Given the description of an element on the screen output the (x, y) to click on. 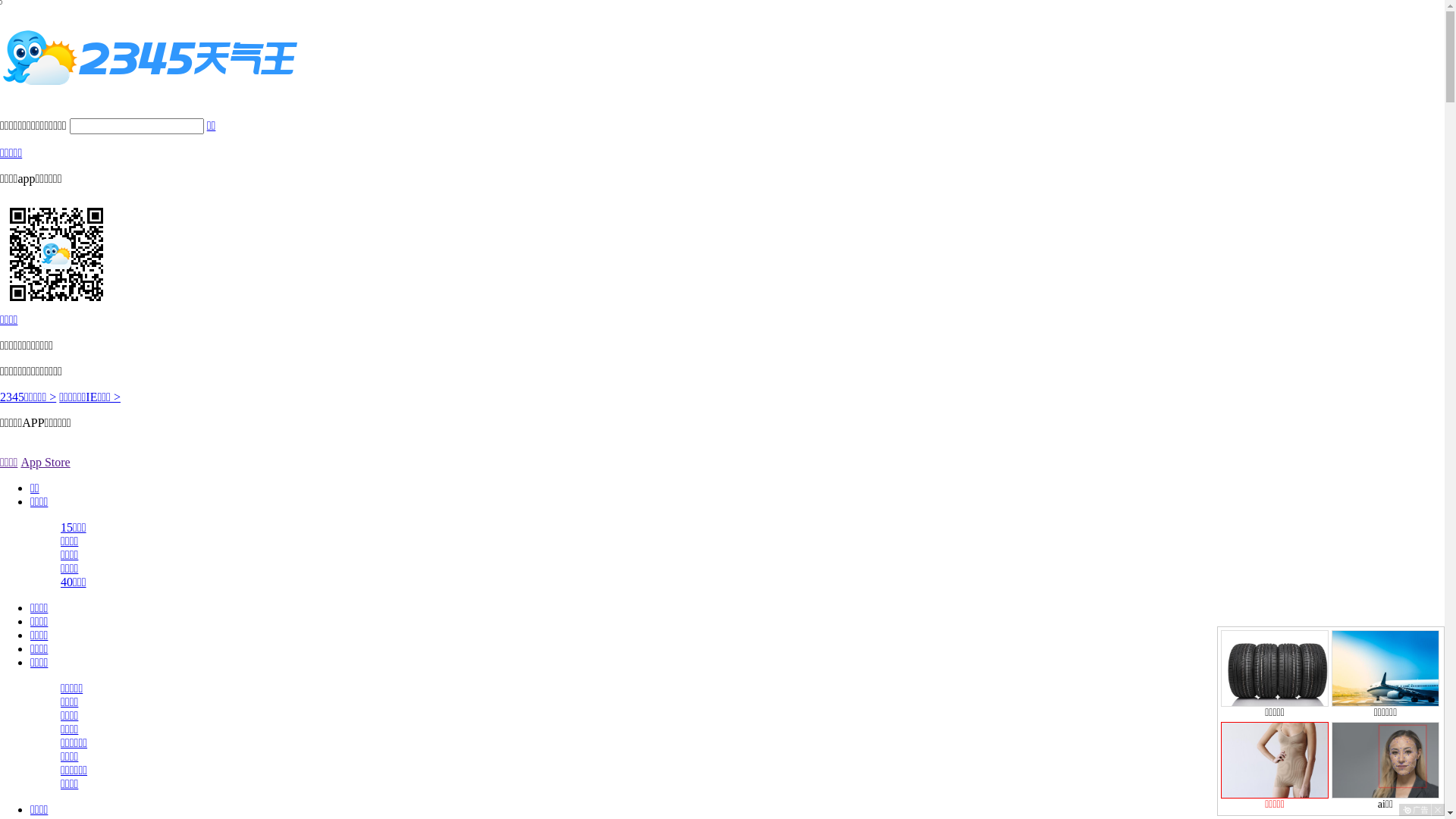
App Store Element type: text (44, 461)
